Given the description of an element on the screen output the (x, y) to click on. 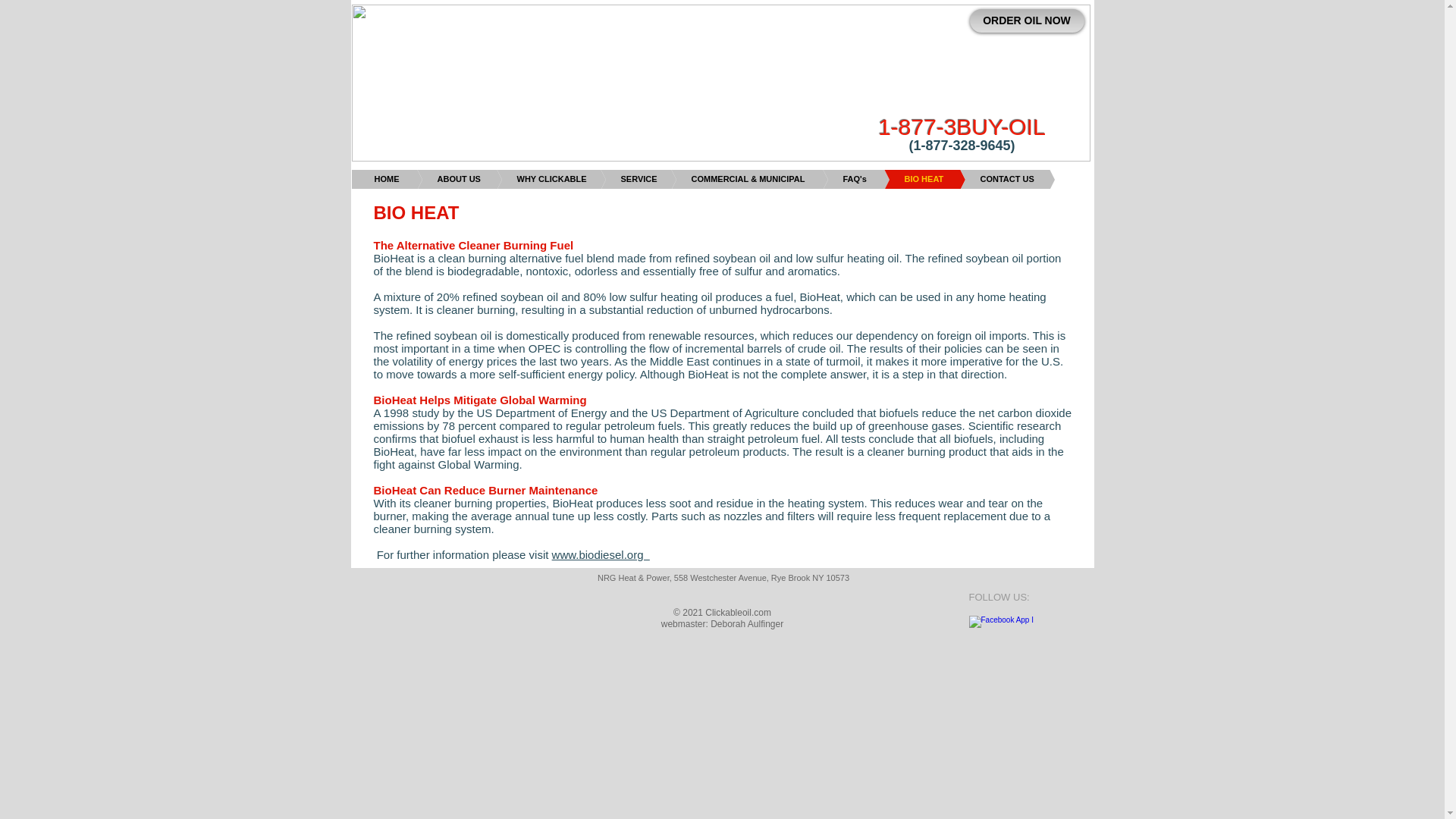
www.biodiesel.org   (600, 554)
ORDER OIL NOW (1026, 20)
ABOUT US (434, 179)
HOME (387, 179)
SERVICE (613, 179)
WHY CLICKABLE (526, 179)
CONTACT US (982, 179)
FAQ's (831, 179)
BIO HEAT (899, 179)
